Given the description of an element on the screen output the (x, y) to click on. 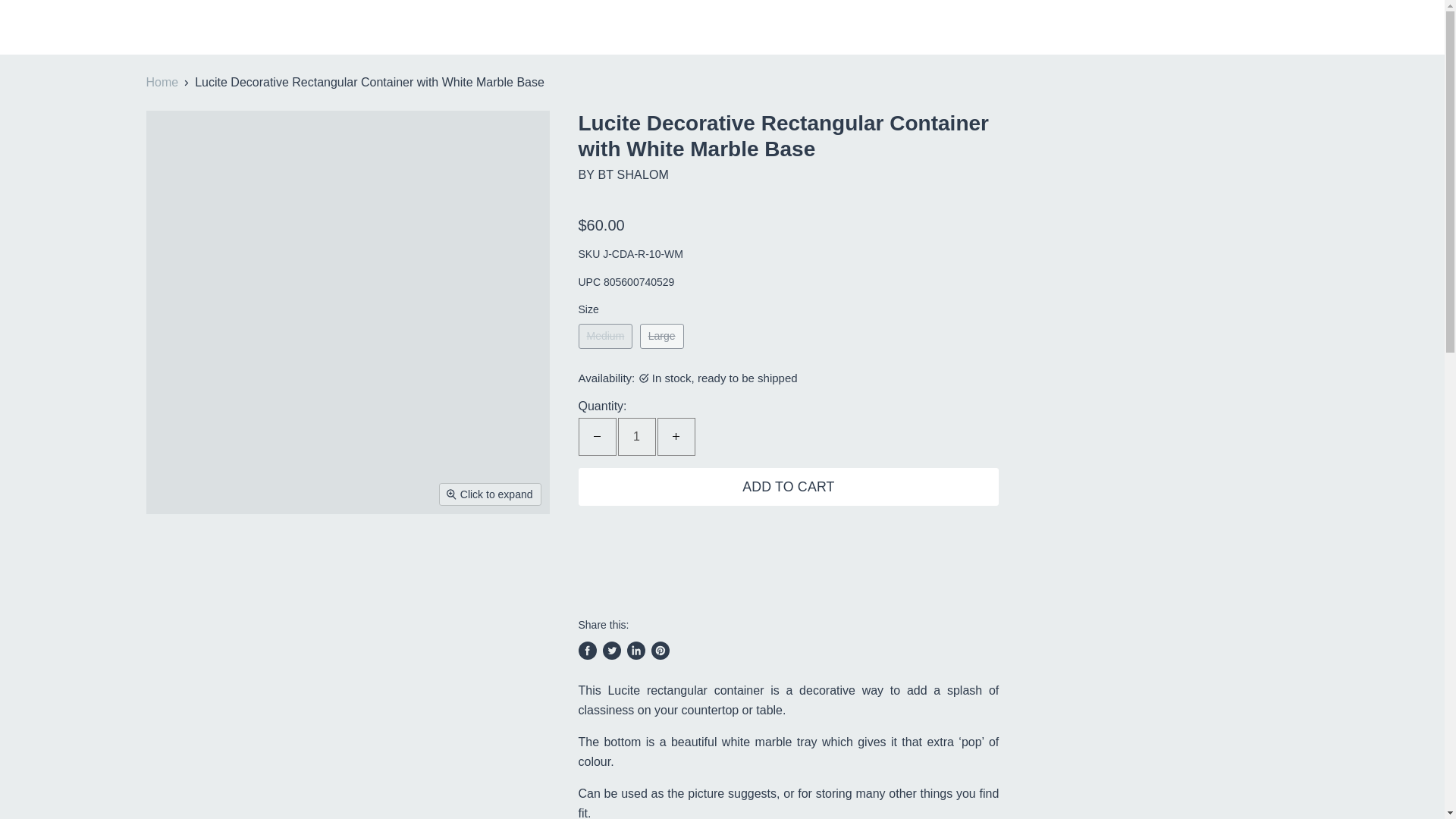
BT Shalom (632, 174)
1 (636, 436)
